Given the description of an element on the screen output the (x, y) to click on. 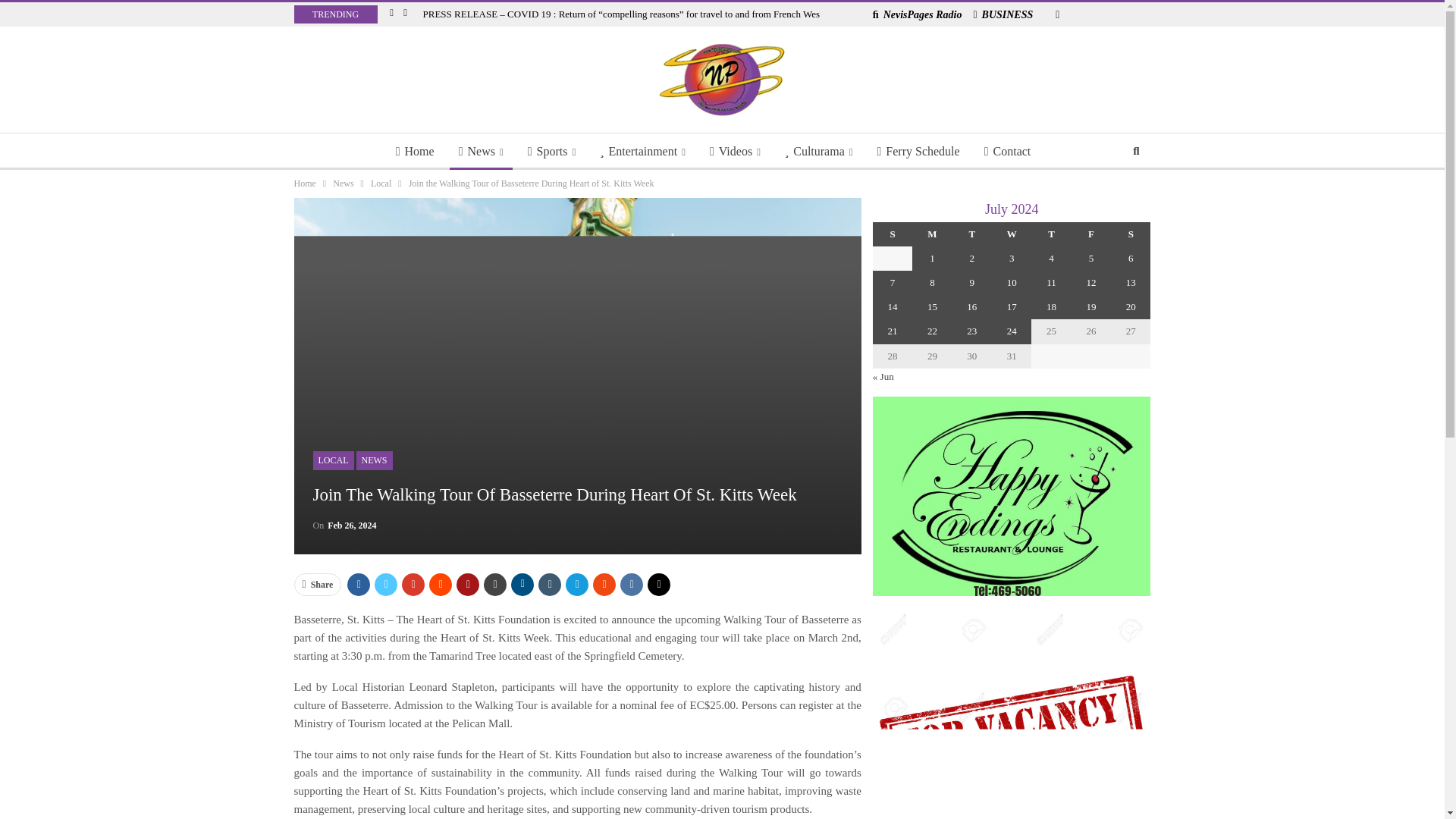
News (480, 151)
NevisPages Radio (917, 14)
Home (415, 151)
BUSINESS (1002, 14)
